Given the description of an element on the screen output the (x, y) to click on. 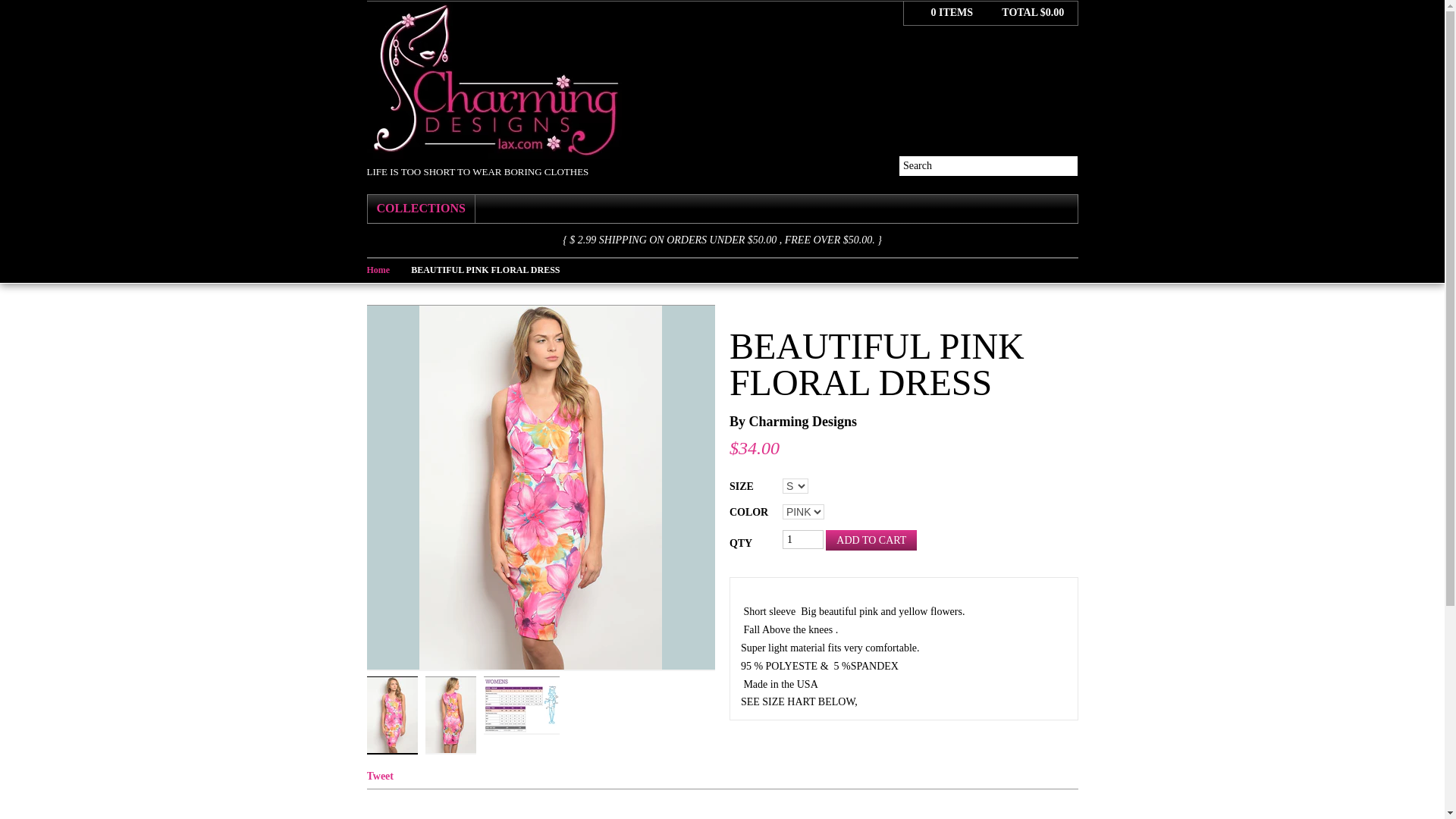
COLLECTIONS (420, 208)
Go (1067, 165)
1 (803, 538)
Add To Cart (871, 539)
Home (389, 269)
Tweet (380, 776)
Go (1067, 165)
Add To Cart (871, 539)
